Given the description of an element on the screen output the (x, y) to click on. 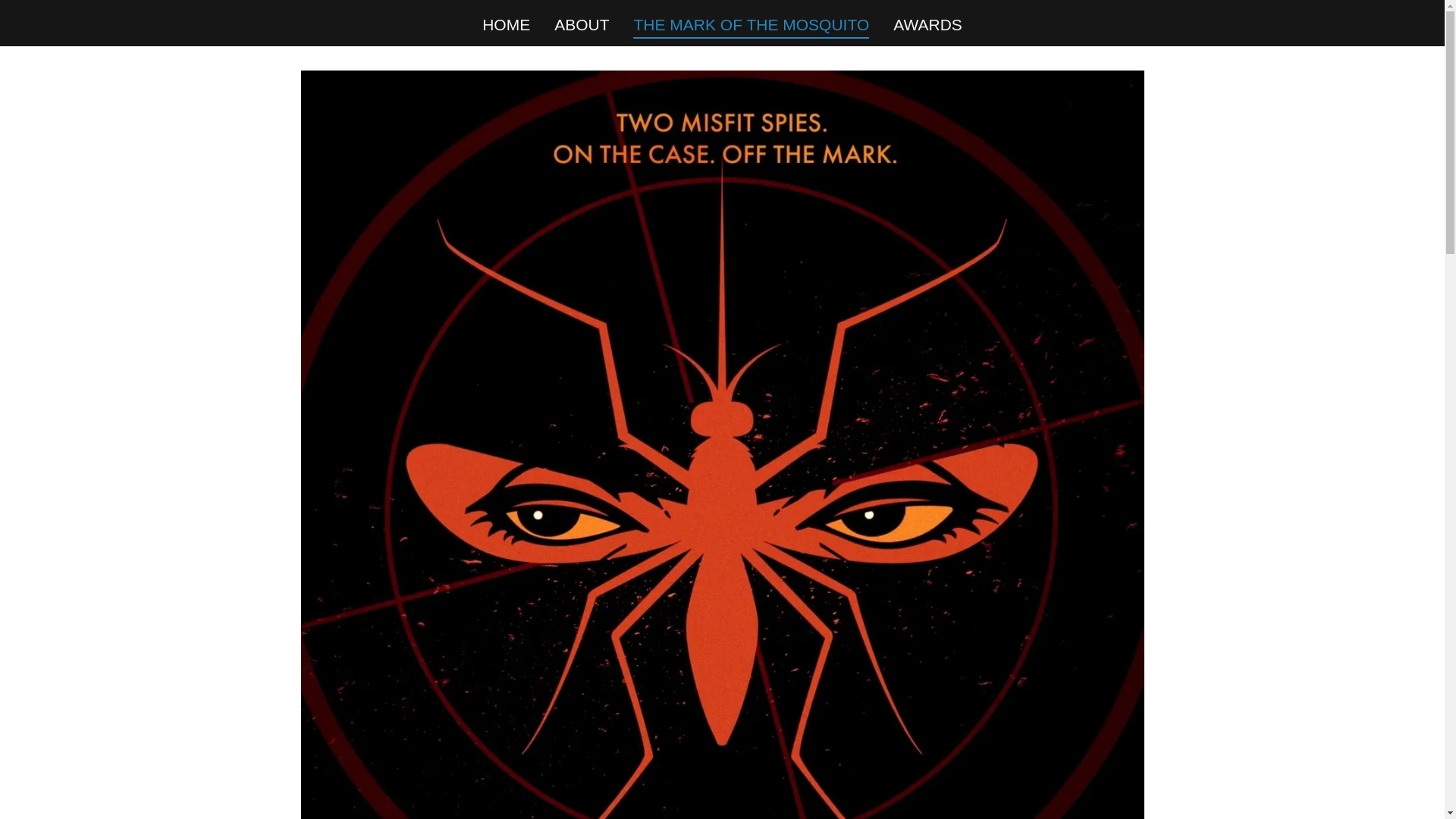
HOME (505, 23)
ABOUT (581, 23)
AWARDS (927, 23)
THE MARK OF THE MOSQUITO (751, 26)
